Given the description of an element on the screen output the (x, y) to click on. 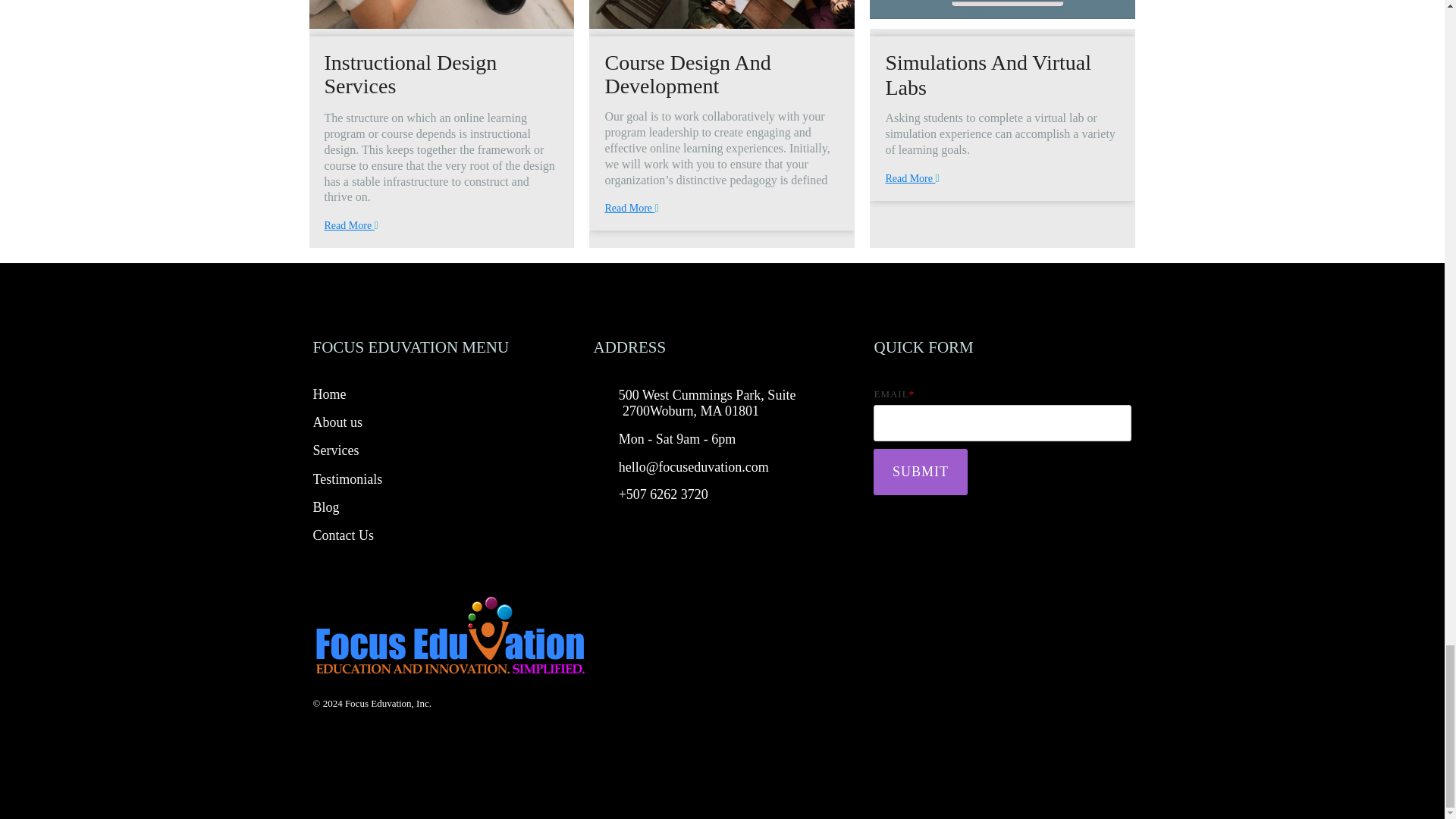
Submit (920, 471)
